Given the description of an element on the screen output the (x, y) to click on. 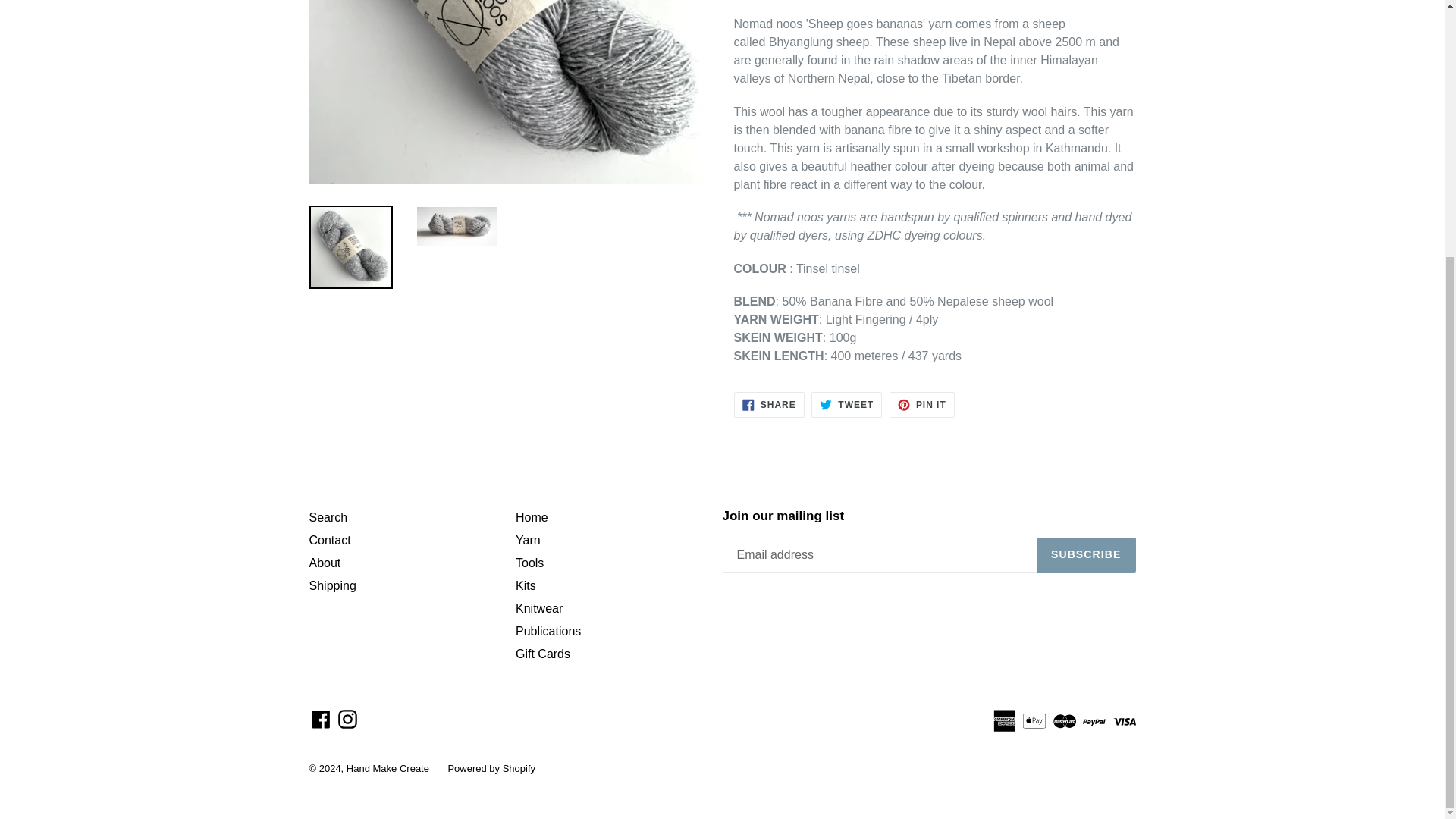
Search (769, 404)
About (327, 517)
Shipping (324, 562)
Tweet on Twitter (332, 585)
Share on Facebook (846, 404)
Kits (769, 404)
Hand Make Create on Instagram (525, 585)
Hand Make Create on Facebook (347, 719)
